Given the description of an element on the screen output the (x, y) to click on. 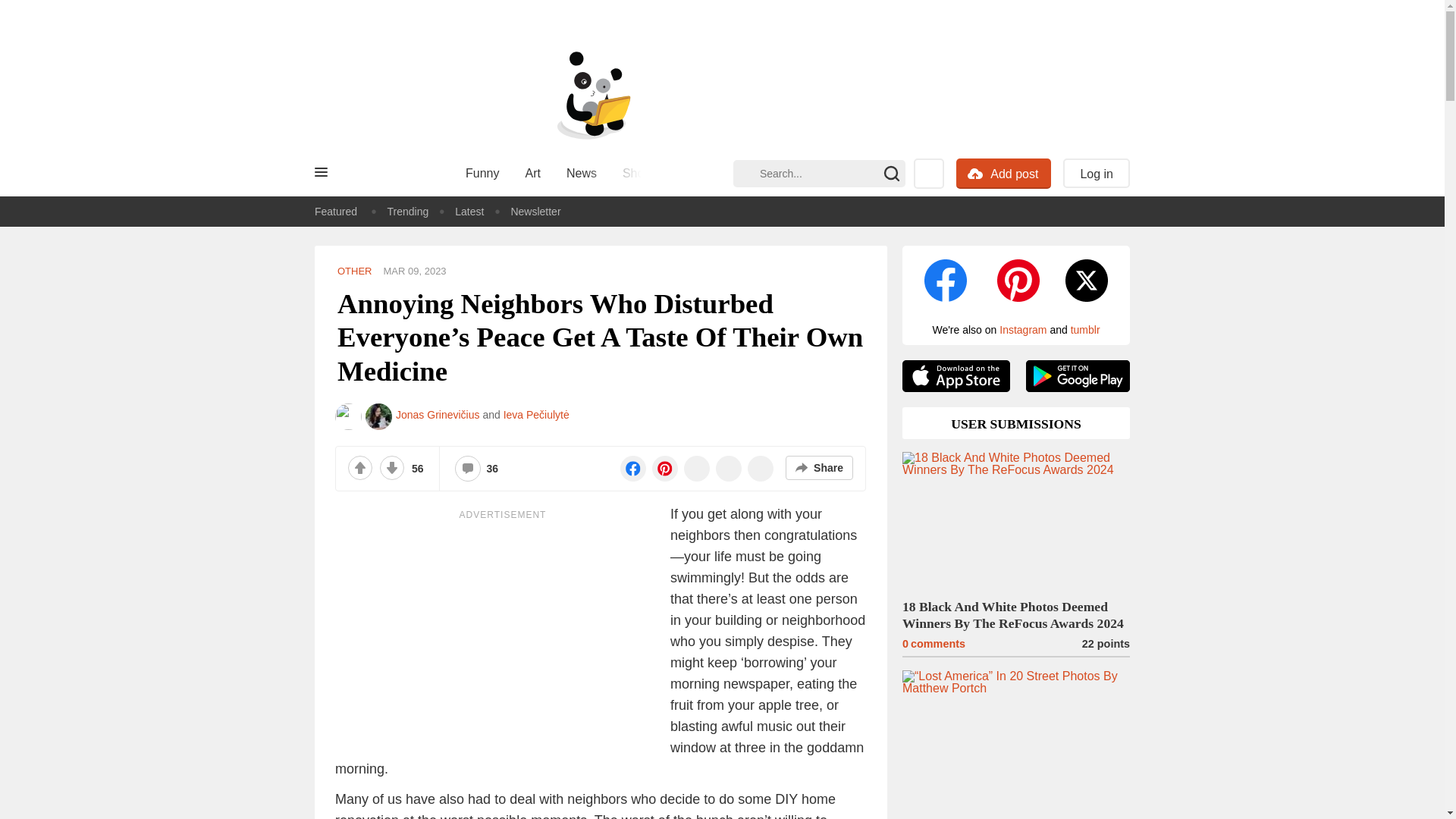
Add post form top (975, 173)
Share this article (819, 467)
Open list comments (468, 468)
